Given the description of an element on the screen output the (x, y) to click on. 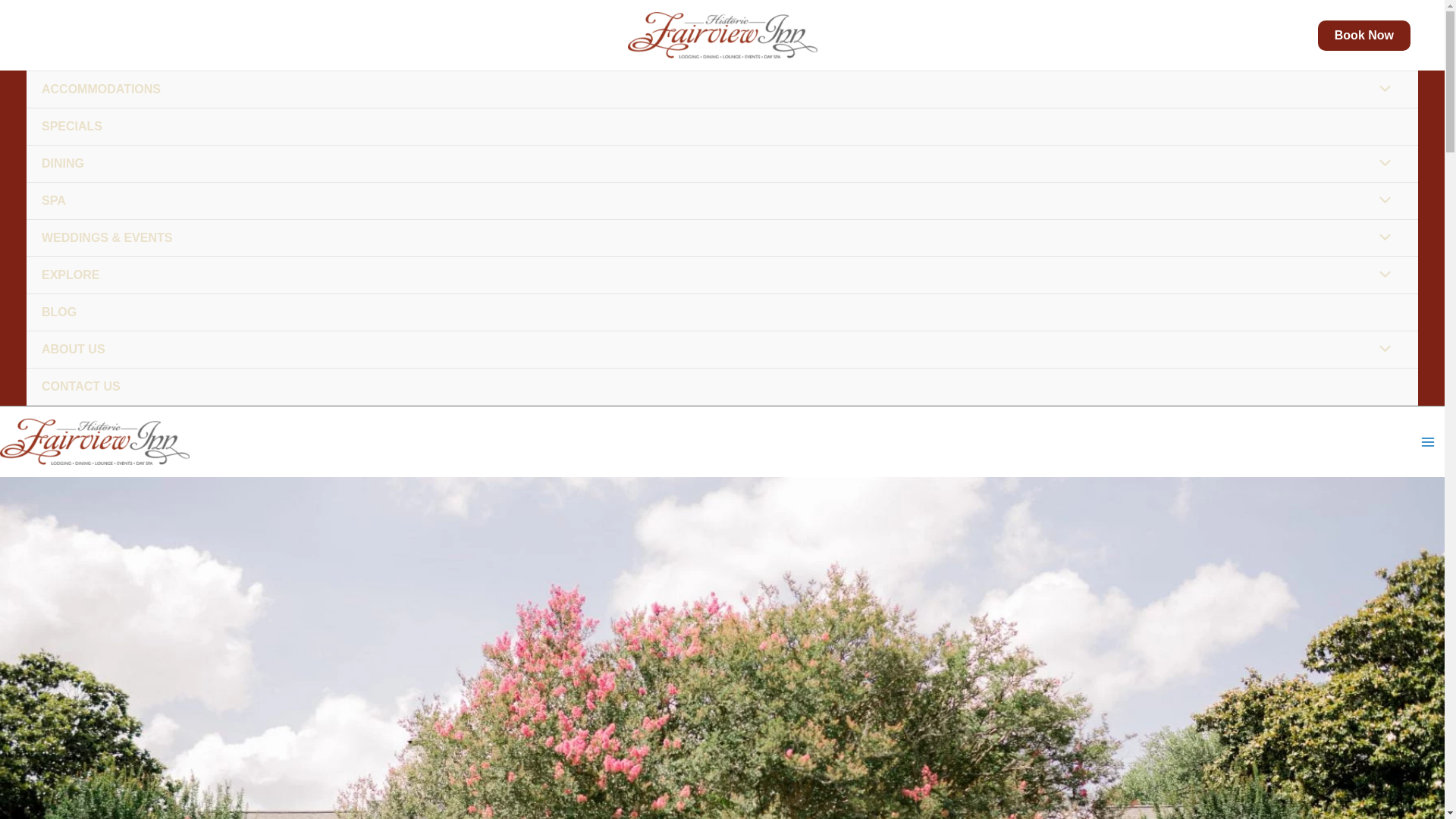
Menu Toggle (1381, 89)
ABOUT US (722, 349)
Menu Toggle (1381, 238)
SPECIALS (722, 126)
DINING (722, 163)
Menu Toggle (1381, 275)
EXPLORE (722, 275)
Menu Toggle (1381, 201)
BLOG (722, 312)
Book Now (1363, 34)
SPA (722, 201)
Menu Toggle (1381, 350)
ACCOMMODATIONS (722, 89)
Menu Toggle (1381, 164)
